Given the description of an element on the screen output the (x, y) to click on. 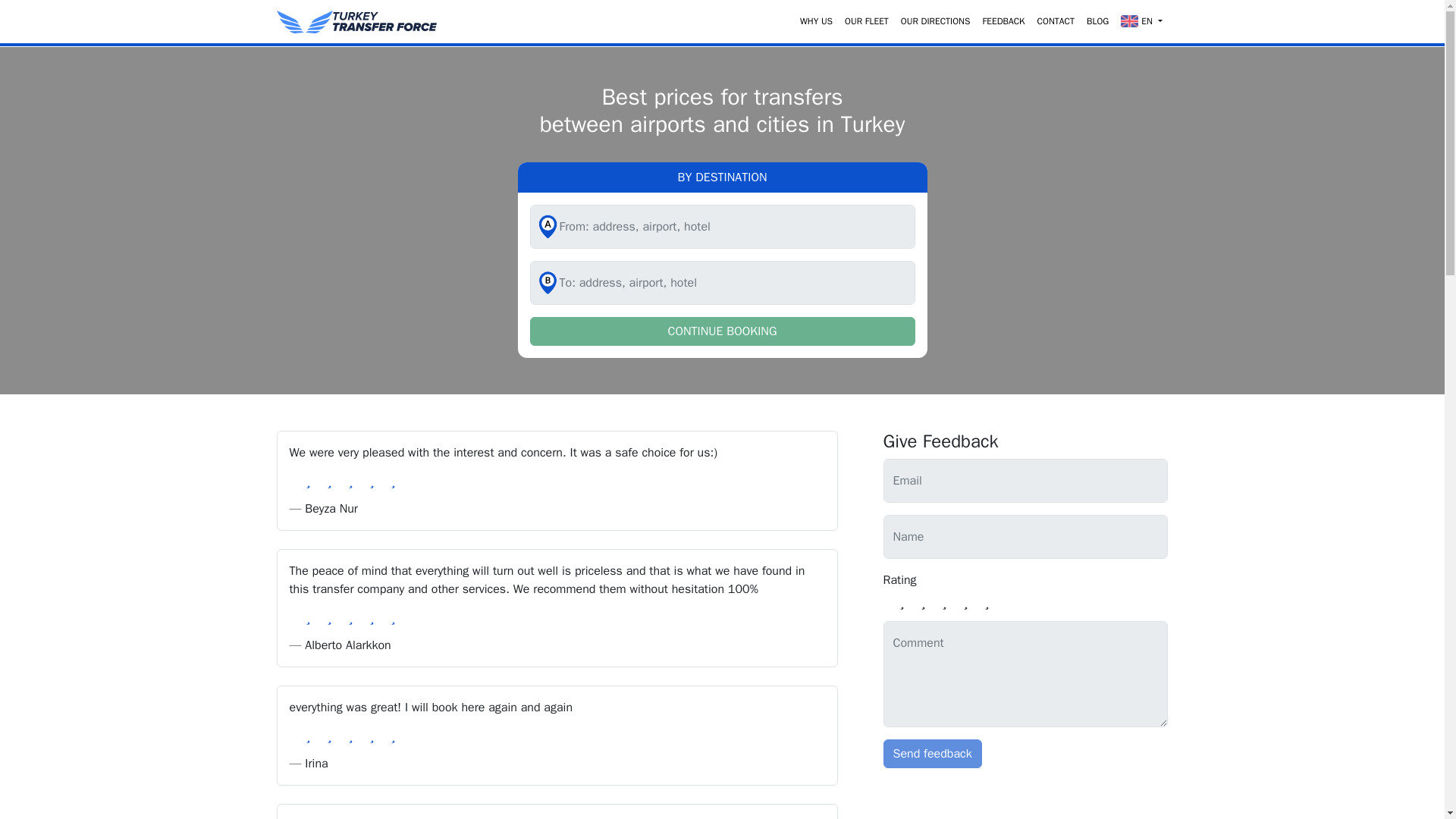
WHY US (815, 21)
FEEDBACK (1002, 21)
CONTACT (1055, 21)
OUR FLEET (866, 21)
CONTINUE BOOKING (721, 330)
Send feedback (931, 753)
OUR DIRECTIONS (935, 21)
EN (1141, 21)
BLOG (1097, 21)
